Given the description of an element on the screen output the (x, y) to click on. 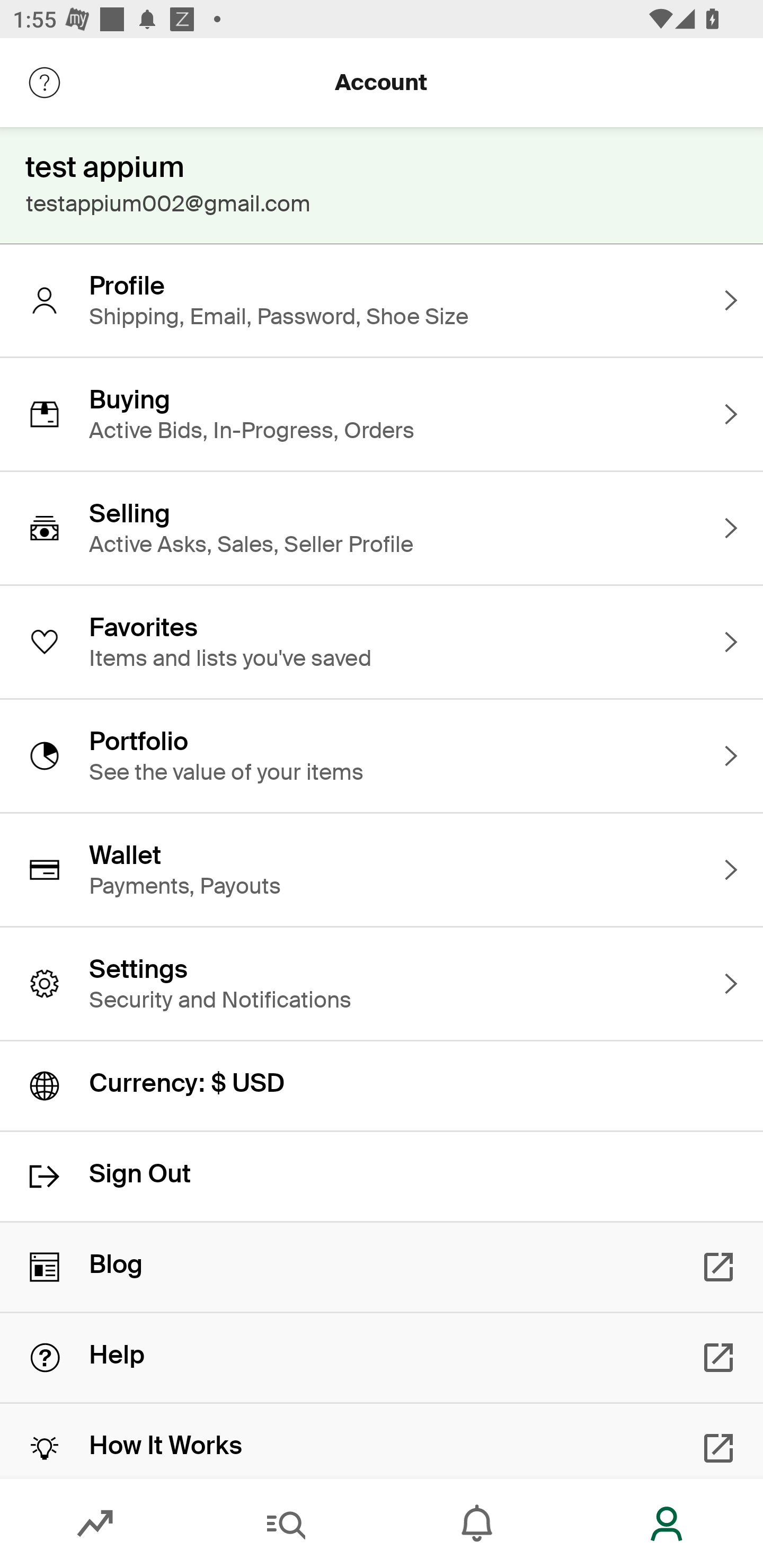
Profile Shipping, Email, Password, Shoe Size (381, 299)
Buying Active Bids, In-Progress, Orders (381, 413)
Selling Active Asks, Sales, Seller Profile (381, 527)
Favorites Items and lists you've saved (381, 641)
Portfolio See the value of your items (381, 755)
Wallet Payments, Payouts (381, 869)
Settings Security and Notifications (381, 983)
Currency: $ USD (381, 1085)
Sign Out (381, 1176)
Blog (381, 1266)
Help (381, 1357)
How It Works (381, 1440)
Market (95, 1523)
Search (285, 1523)
Inbox (476, 1523)
